Given the description of an element on the screen output the (x, y) to click on. 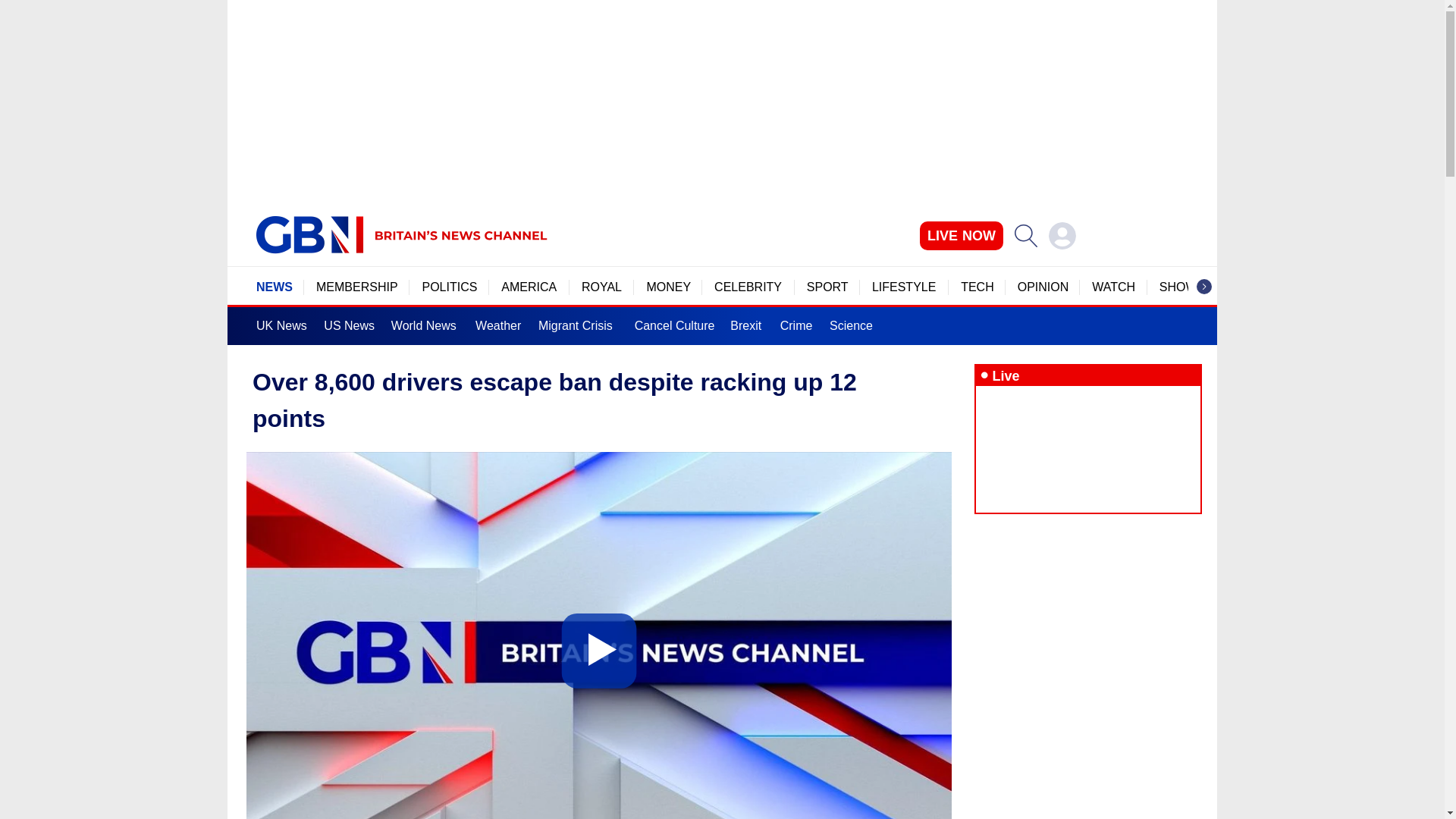
GBN Britain's News Channel (310, 235)
Search (1025, 235)
LIVE (961, 235)
